Given the description of an element on the screen output the (x, y) to click on. 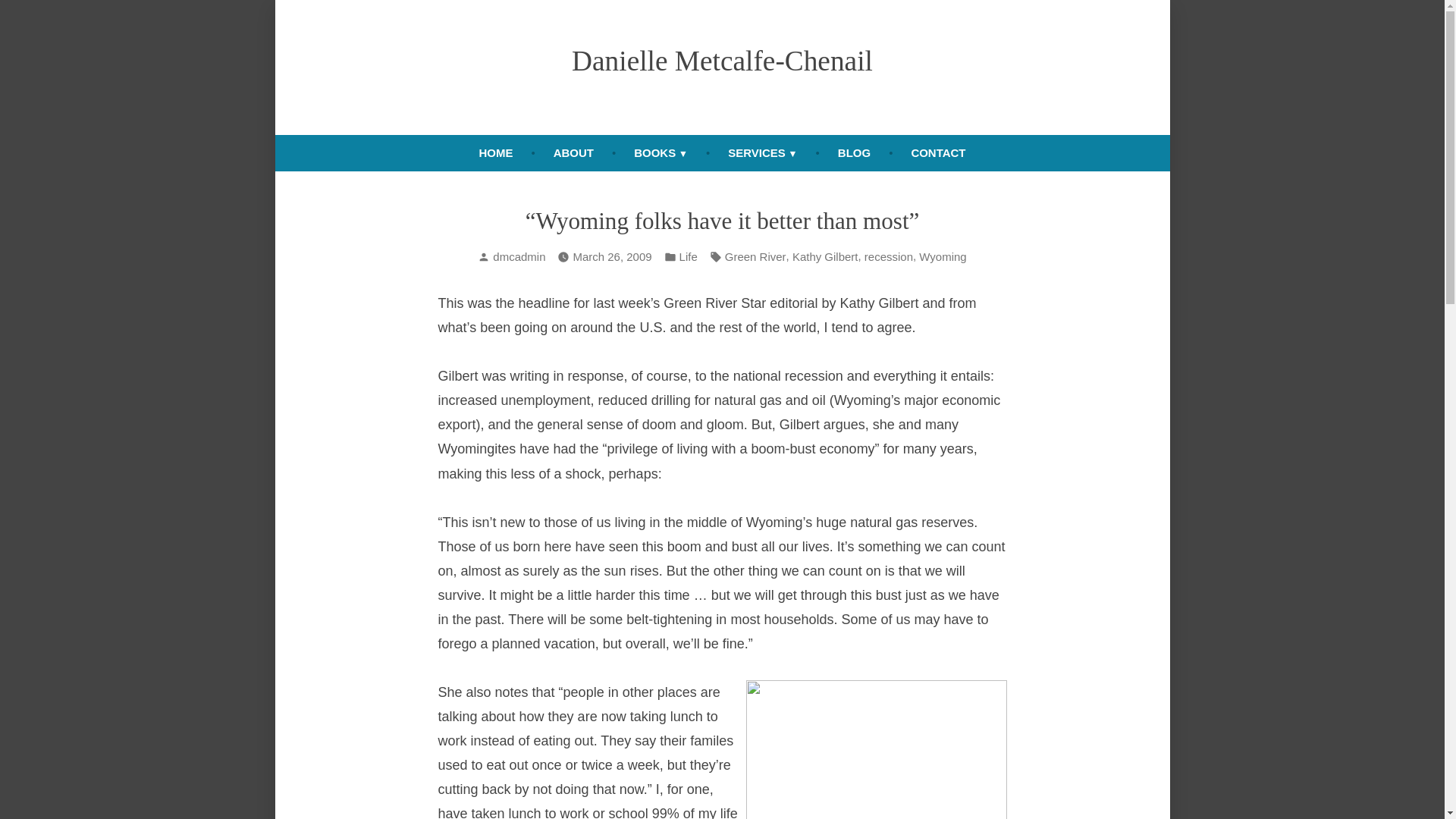
Life (688, 257)
ABOUT (573, 153)
HOME (494, 153)
Kathy Gilbert (825, 257)
CONTACT (937, 153)
recession (888, 257)
dmcadmin (518, 256)
BLOG (853, 153)
Danielle Metcalfe-Chenail (722, 60)
